Given the description of an element on the screen output the (x, y) to click on. 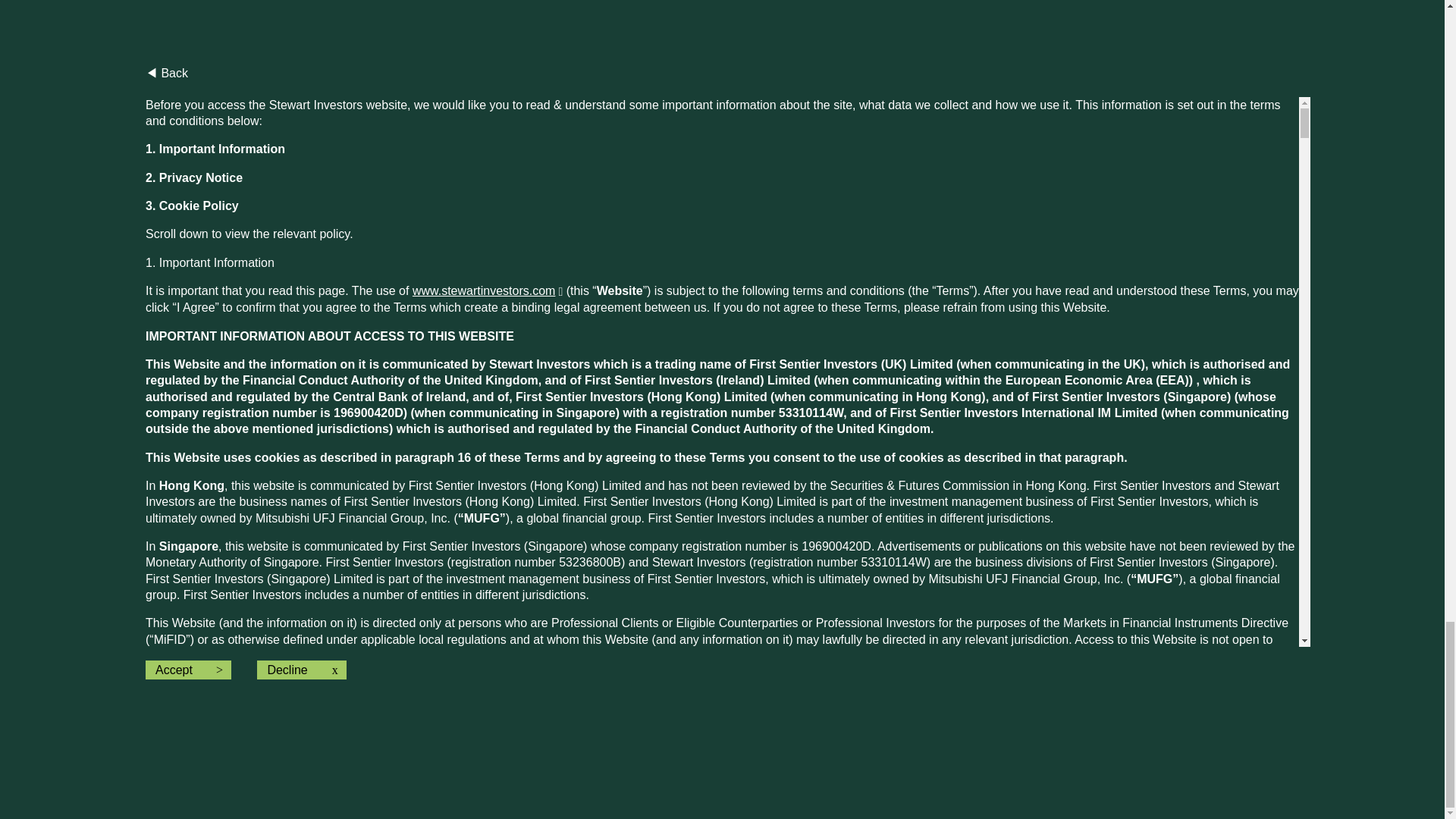
prospectus (785, 684)
www.allaboutcookies.org (557, 453)
Privacy Notice (272, 76)
